Given the description of an element on the screen output the (x, y) to click on. 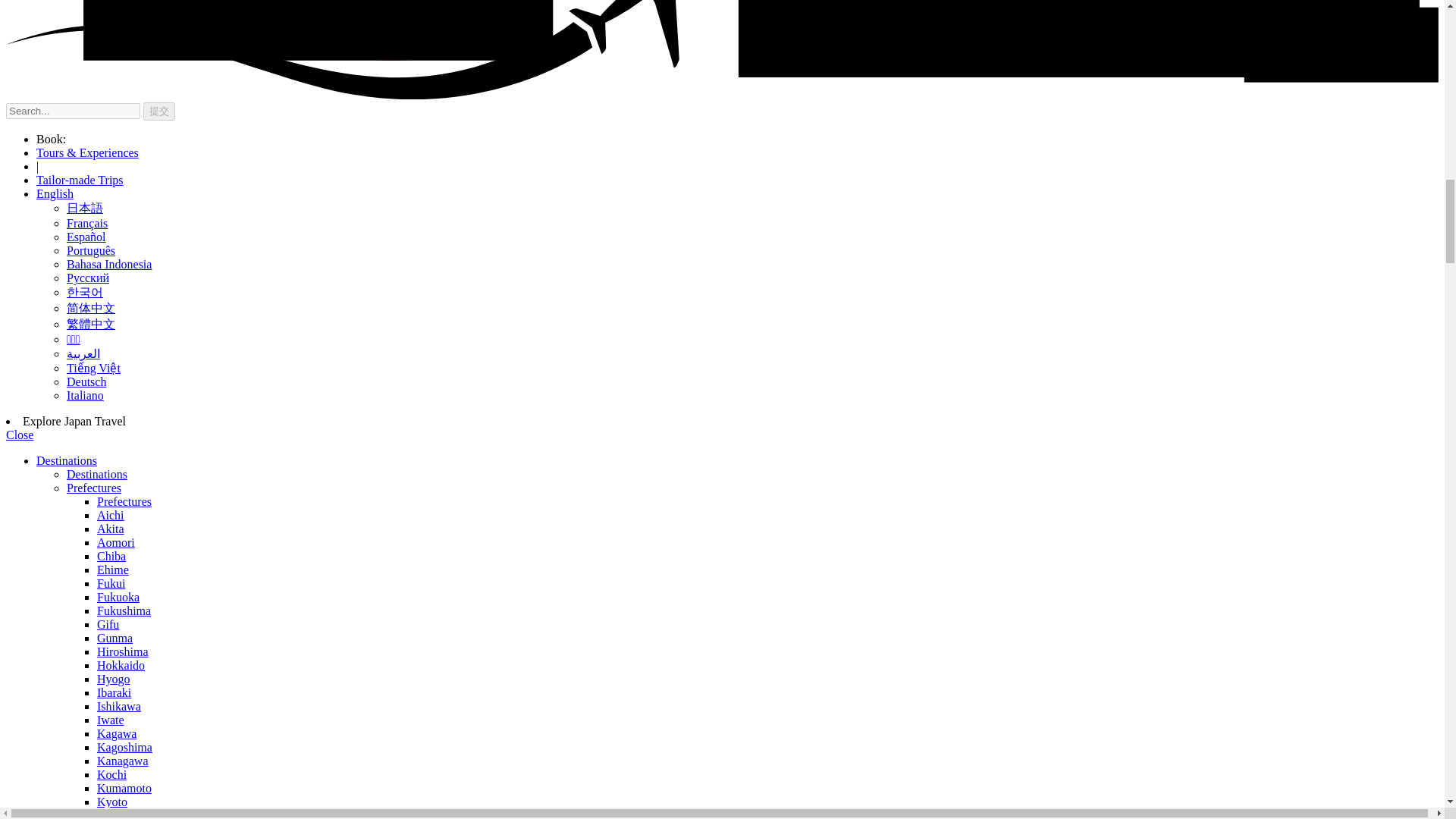
Hokkaido (120, 665)
Hyogo (114, 678)
Prefectures (124, 501)
Tailor-made Trips (79, 179)
English (55, 193)
Ehime (113, 569)
Fukui (111, 583)
Gunma (114, 637)
Akita (110, 528)
